Given the description of an element on the screen output the (x, y) to click on. 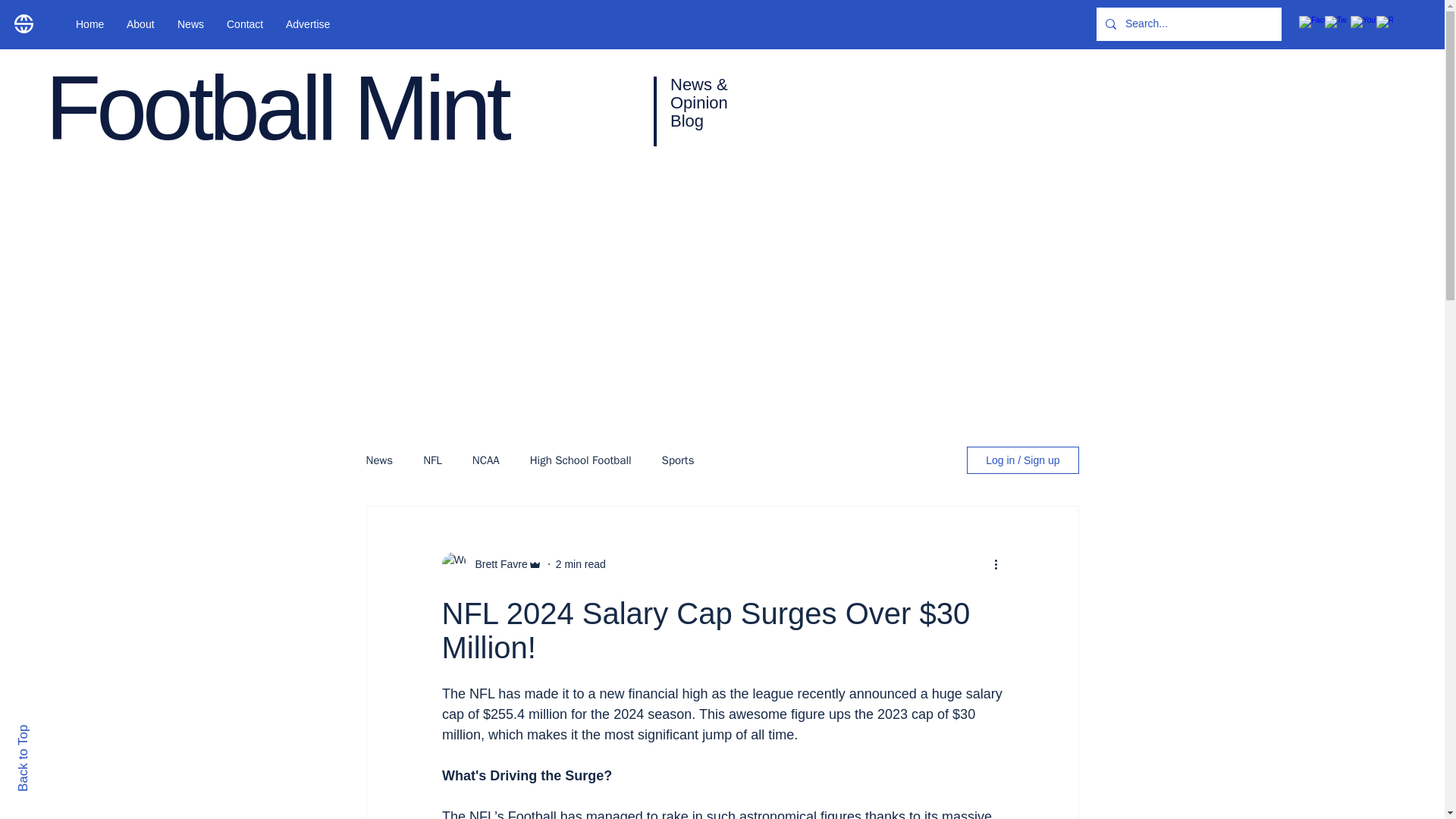
Back to Top (49, 730)
Home (89, 24)
High School Football (580, 460)
News (190, 24)
Brett Favre (496, 564)
About (140, 24)
Sports (678, 460)
NFL (432, 460)
Advertise (307, 24)
NCAA (485, 460)
Football Mint (275, 107)
News (379, 460)
2 min read (580, 563)
Contact (245, 24)
